Given the description of an element on the screen output the (x, y) to click on. 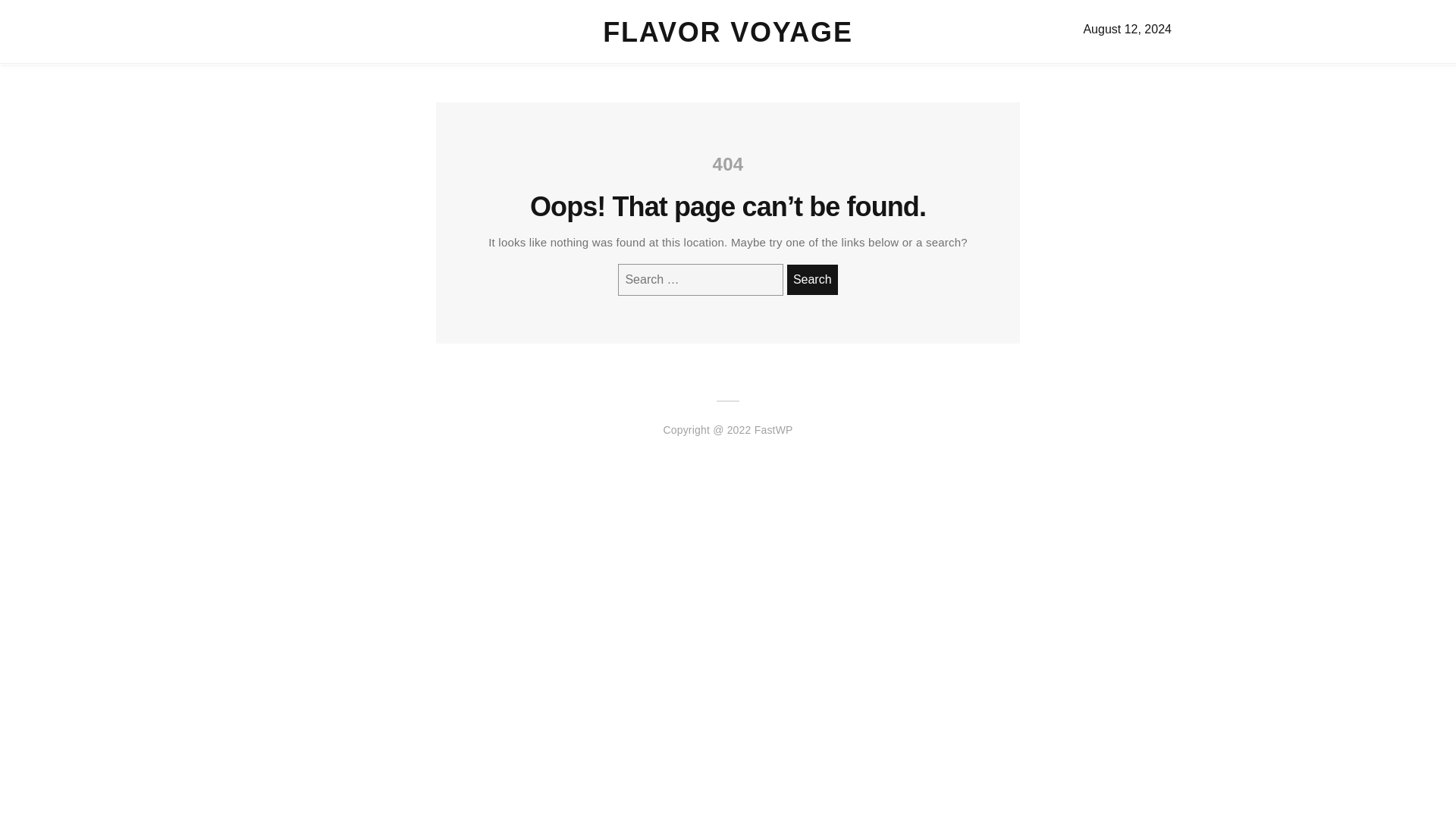
Flavor Voyage (726, 31)
Search (812, 279)
Search (812, 279)
Search (812, 279)
FLAVOR VOYAGE (726, 31)
